Given the description of an element on the screen output the (x, y) to click on. 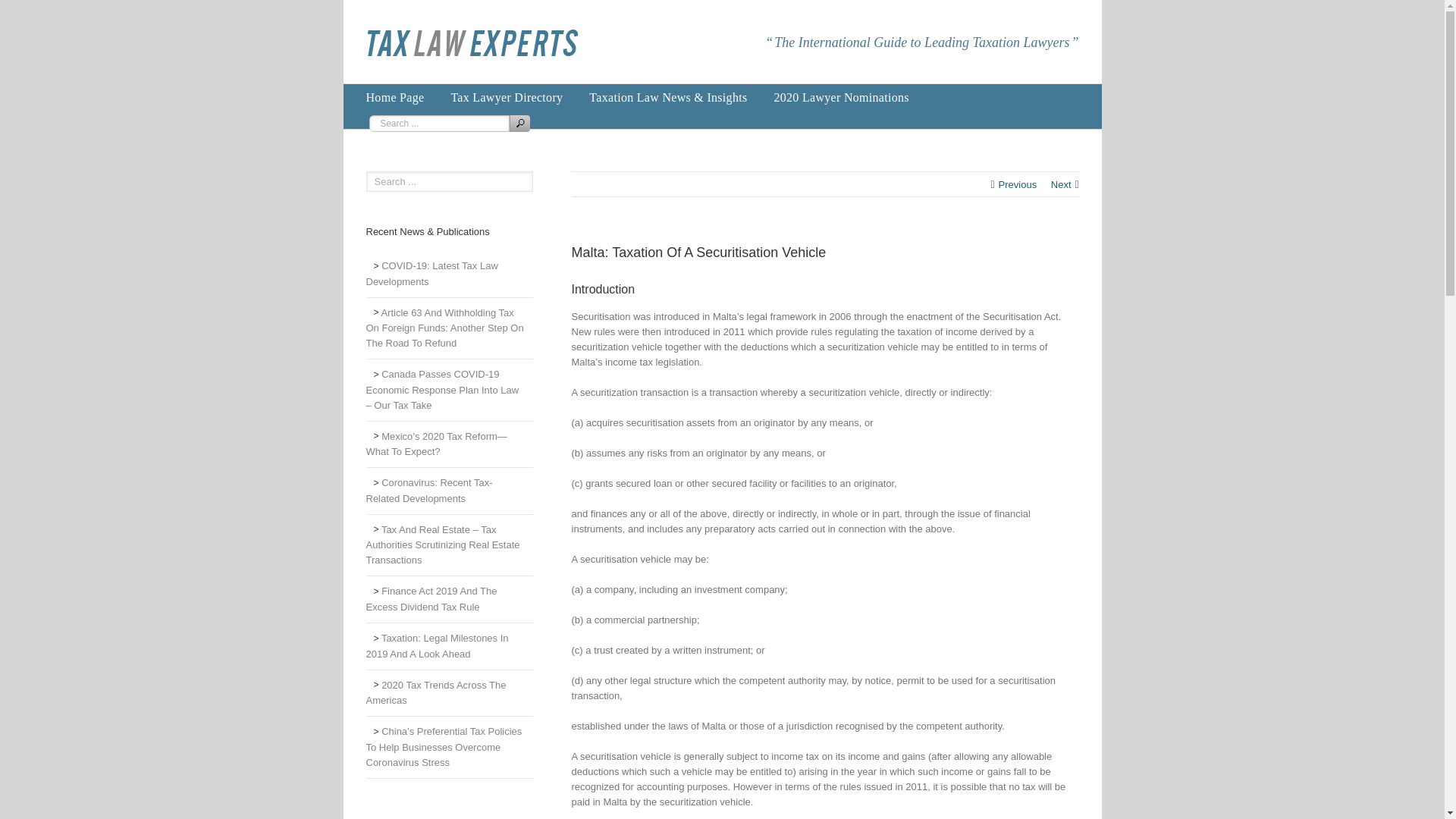
Coronavirus: Recent Tax-Related Developments (448, 491)
Home Page (394, 97)
Tax Lawyer Directory (505, 97)
Taxation: Legal Milestones In 2019 And A Look Ahead (448, 646)
2020 Lawyer Nominations (840, 97)
2020 Tax Trends Across The Americas (448, 693)
Coronavirus: Recent Tax-Related Developments (448, 491)
COVID-19: Latest Tax Law Developments (448, 274)
Finance Act 2019 And The Excess Dividend Tax Rule (448, 599)
COVID-19: Latest Tax Law Developments (448, 274)
Previous (1017, 184)
